Given the description of an element on the screen output the (x, y) to click on. 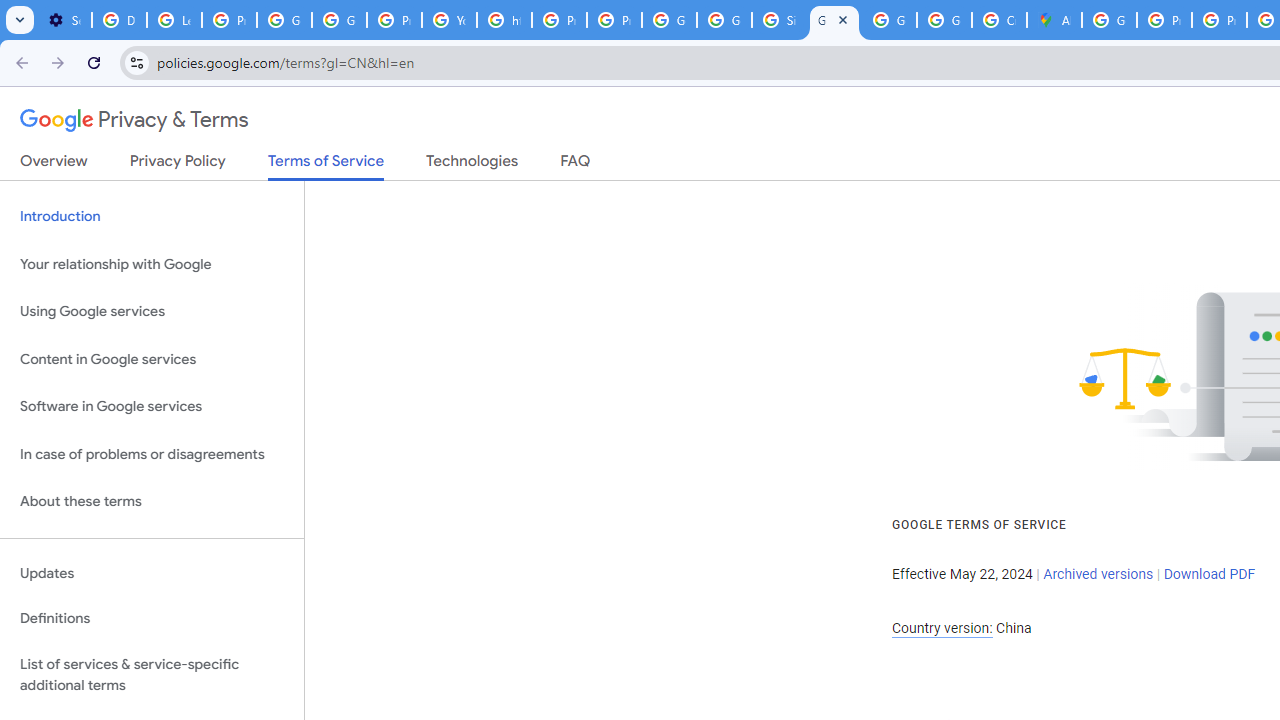
YouTube (449, 20)
Your relationship with Google (152, 263)
Delete photos & videos - Computer - Google Photos Help (119, 20)
Software in Google services (152, 407)
Content in Google services (152, 358)
Create your Google Account (998, 20)
Using Google services (152, 312)
Definitions (152, 619)
